Given the description of an element on the screen output the (x, y) to click on. 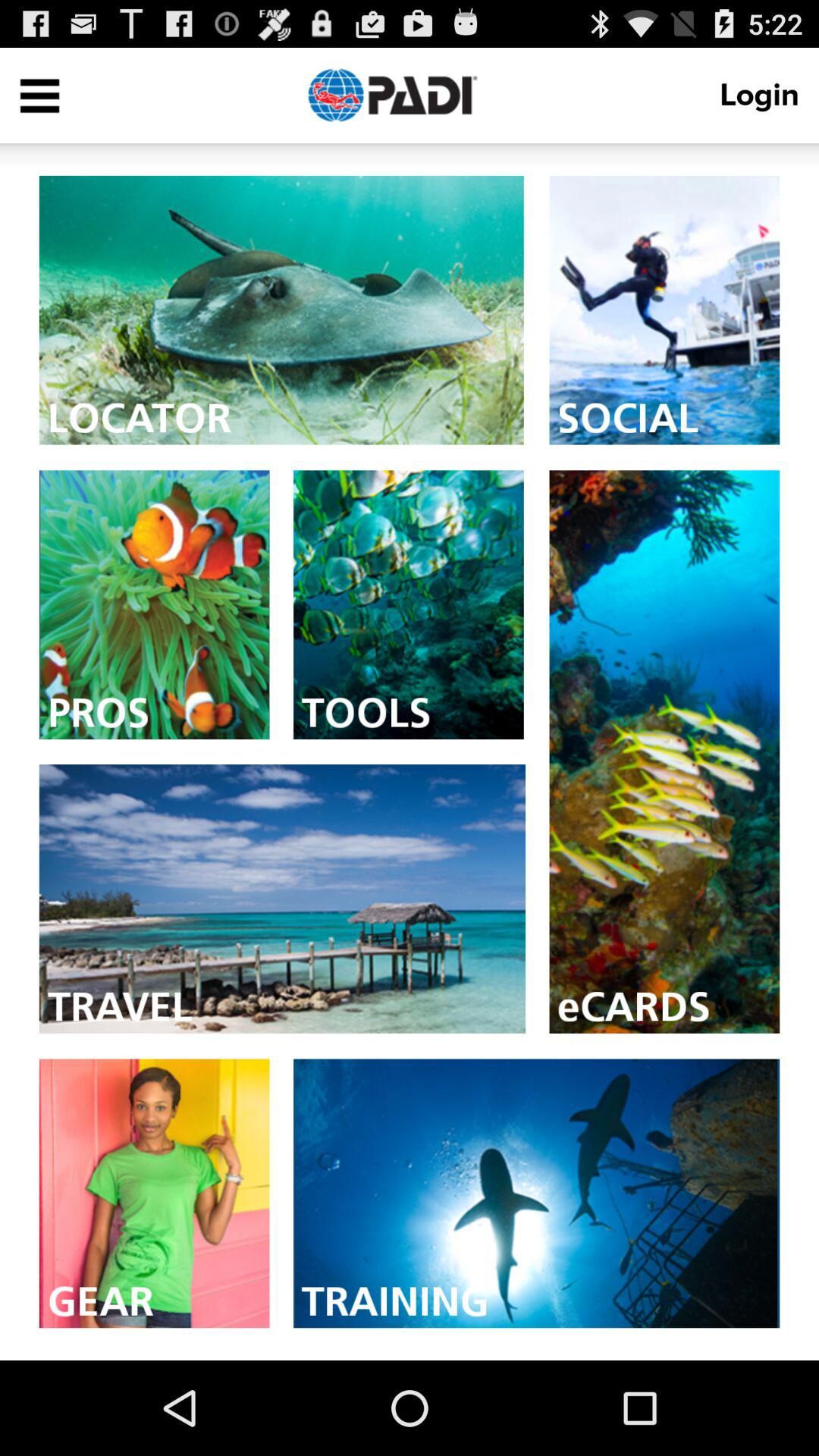
select tools (408, 604)
